Given the description of an element on the screen output the (x, y) to click on. 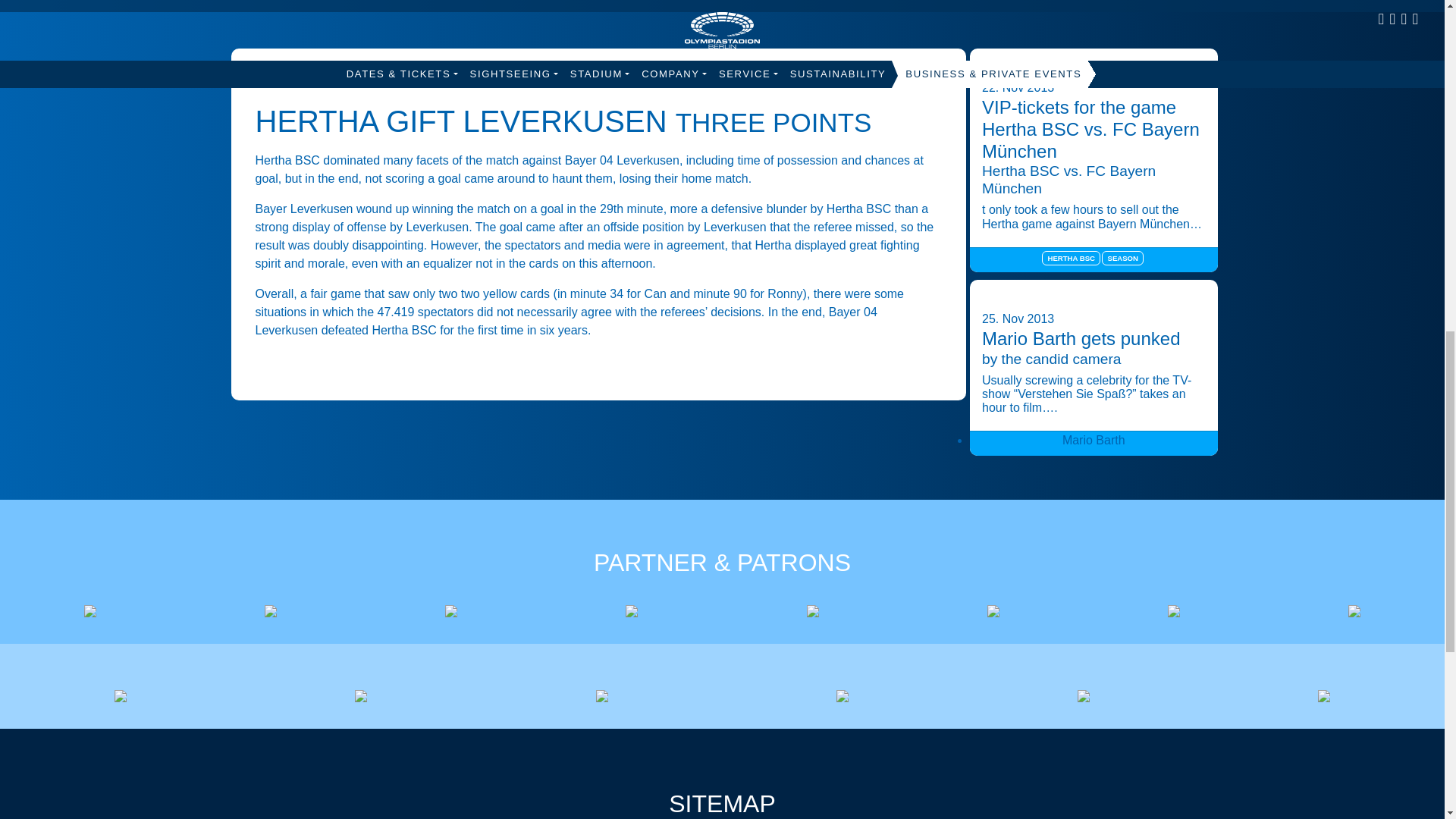
START (274, 81)
